Given the description of an element on the screen output the (x, y) to click on. 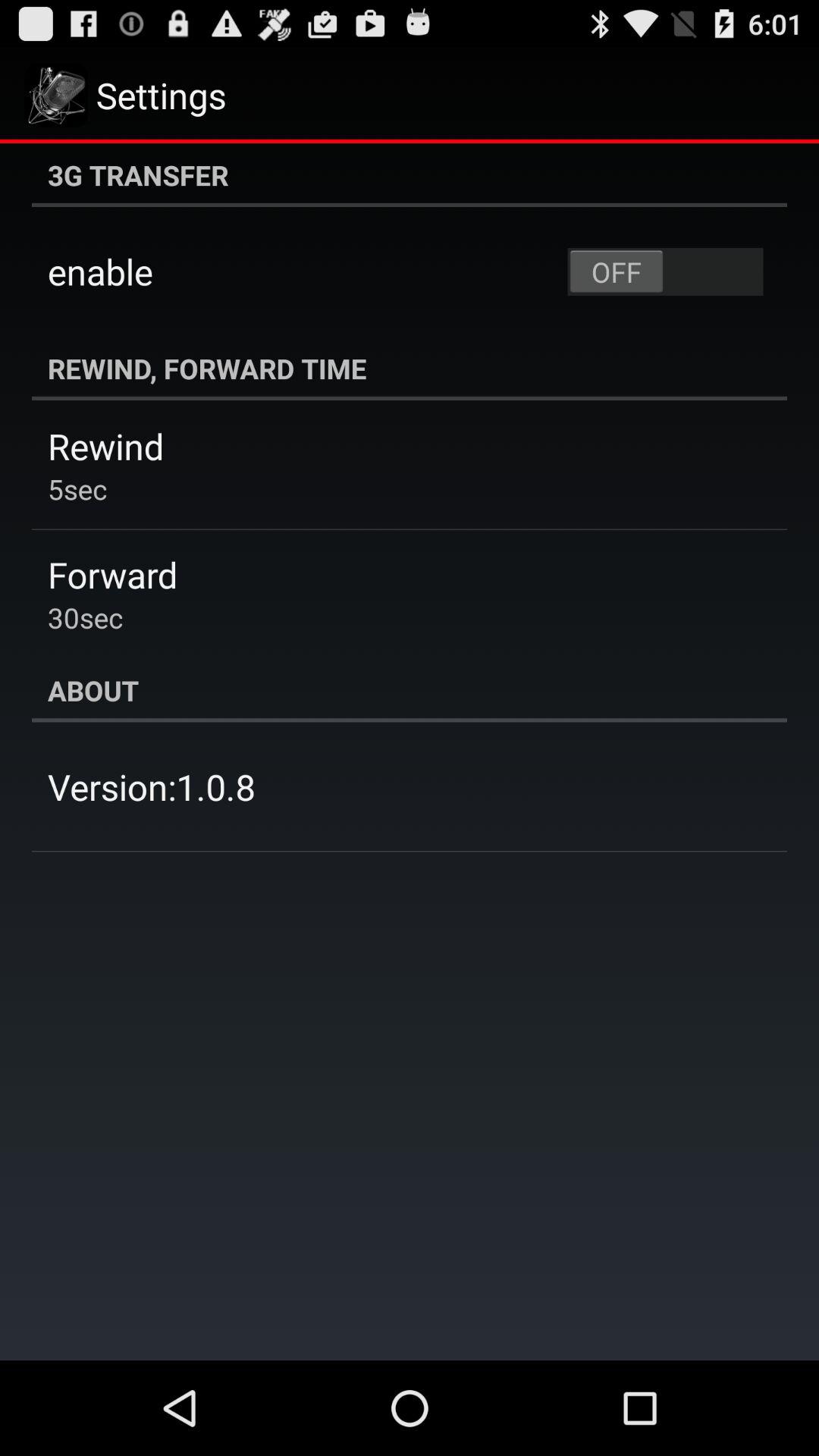
turn off the app below 30sec (409, 690)
